Given the description of an element on the screen output the (x, y) to click on. 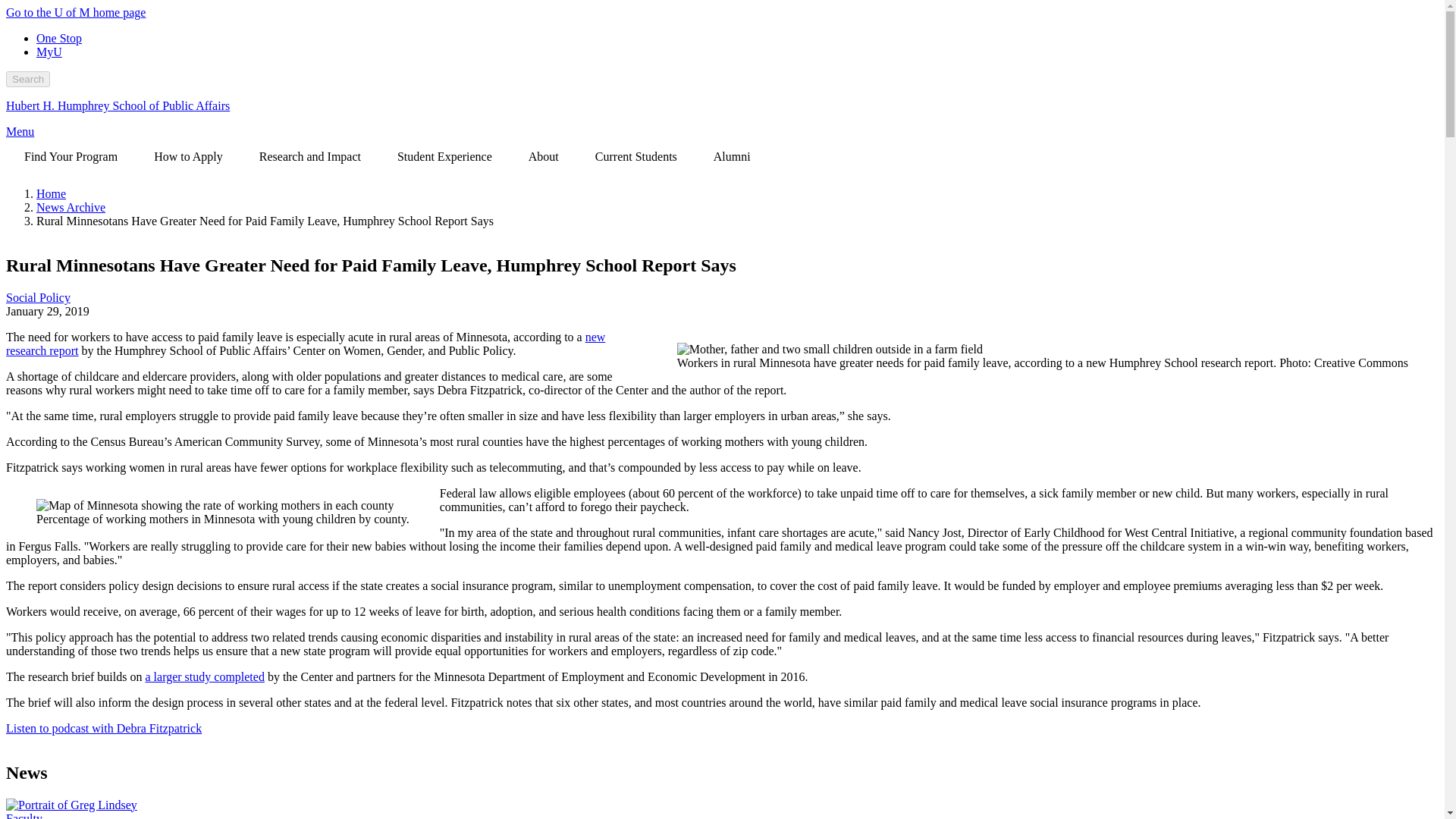
toggle search field (27, 78)
Hubert H. Humphrey School of Public Affairs (117, 105)
MyU (49, 51)
One Stop (58, 38)
Search (27, 78)
rural family (829, 349)
rural family (1042, 349)
Minnesota map of working mothers (214, 505)
Minnesota map of working mothers (222, 505)
Go to the U of M home page (75, 11)
